Given the description of an element on the screen output the (x, y) to click on. 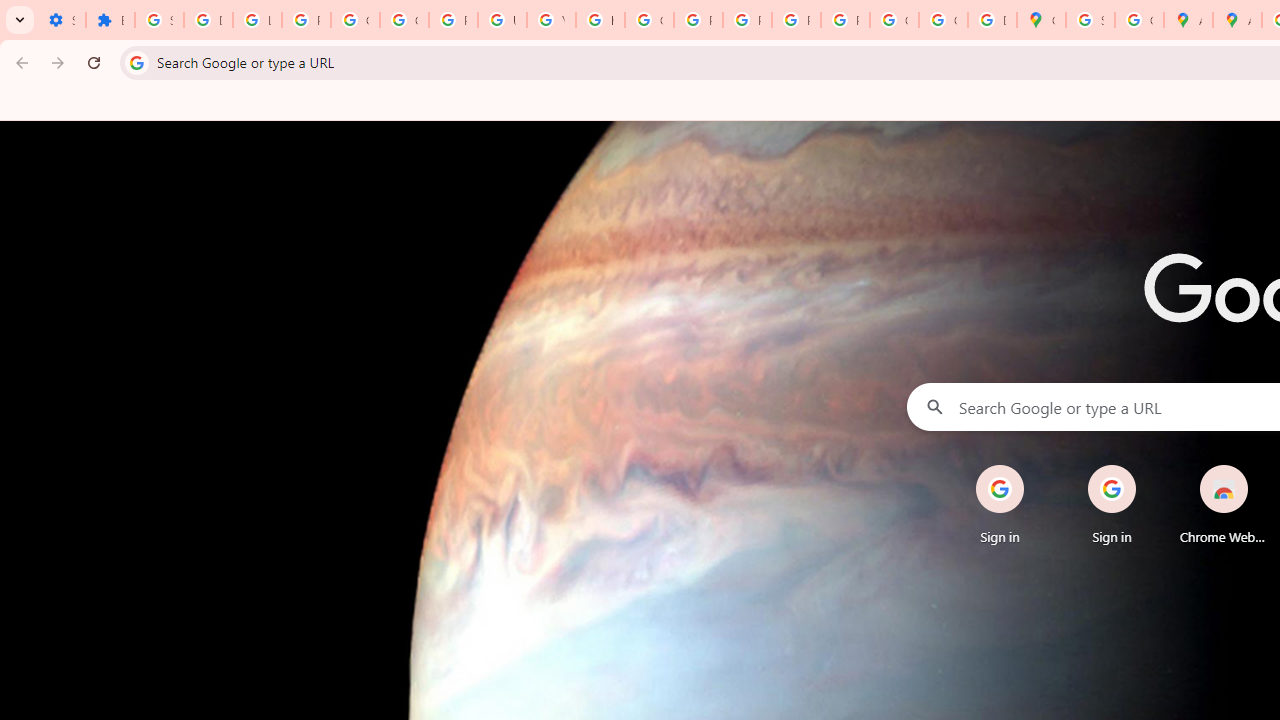
Sign in - Google Accounts (1090, 20)
Privacy Help Center - Policies Help (698, 20)
Create your Google Account (1138, 20)
Chrome Web Store (1223, 504)
Settings - On startup (61, 20)
